Given the description of an element on the screen output the (x, y) to click on. 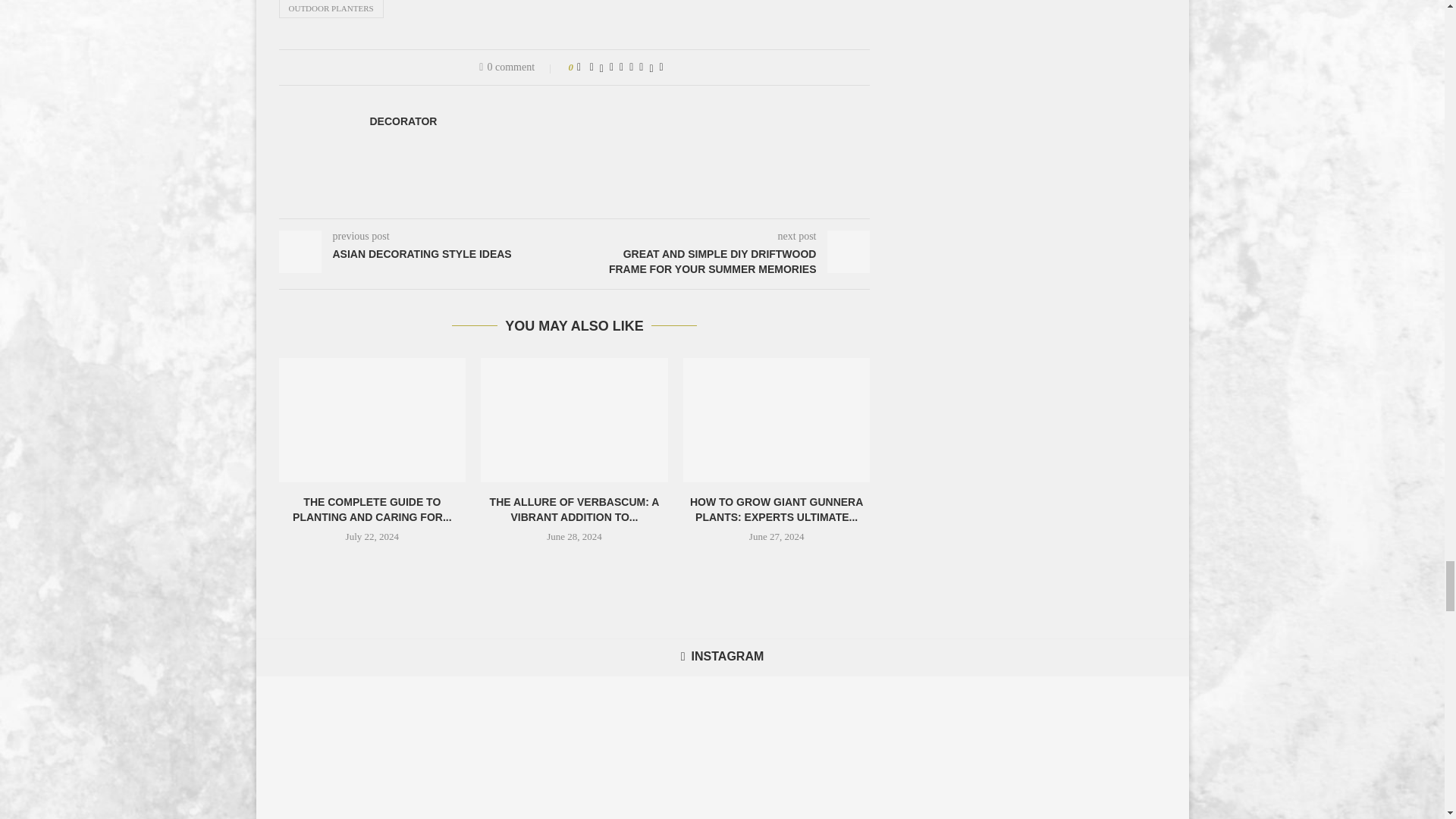
How to Grow Giant Gunnera Plants: Experts Ultimate Top Tips (776, 419)
Author Decorator (403, 121)
The Allure of Verbascum: A Vibrant Addition to Your Garden (574, 419)
The Complete Guide to Planting and Caring for Nemesia (372, 419)
Like (578, 67)
